Given the description of an element on the screen output the (x, y) to click on. 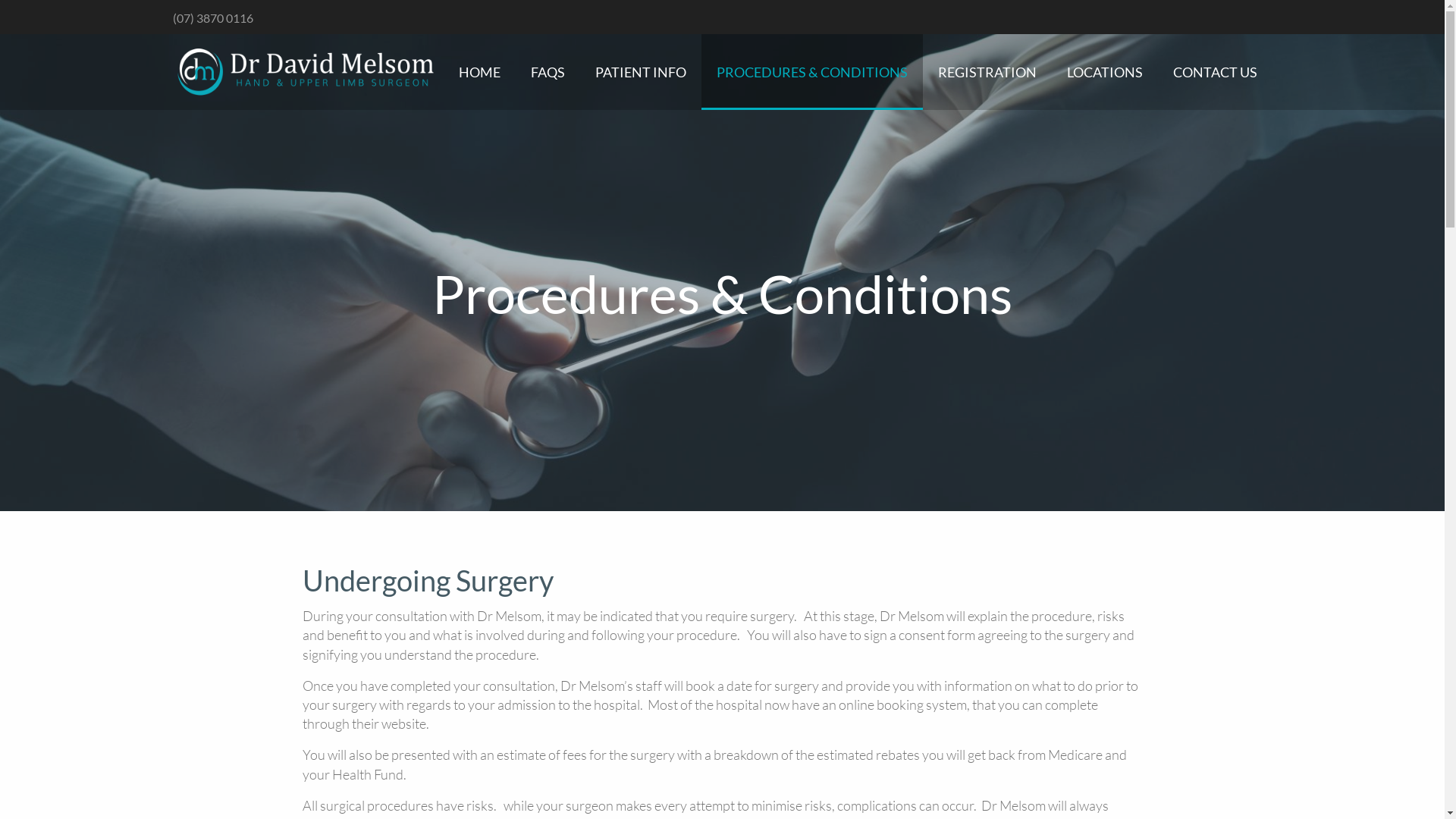
PROCEDURES & CONDITIONS Element type: text (811, 71)
(07) 3870 0116 Element type: text (212, 17)
FAQS Element type: text (547, 71)
LOCATIONS Element type: text (1104, 71)
HOME Element type: text (478, 71)
CONTACT US Element type: text (1214, 71)
REGISTRATION Element type: text (986, 71)
PATIENT INFO Element type: text (639, 71)
